Given the description of an element on the screen output the (x, y) to click on. 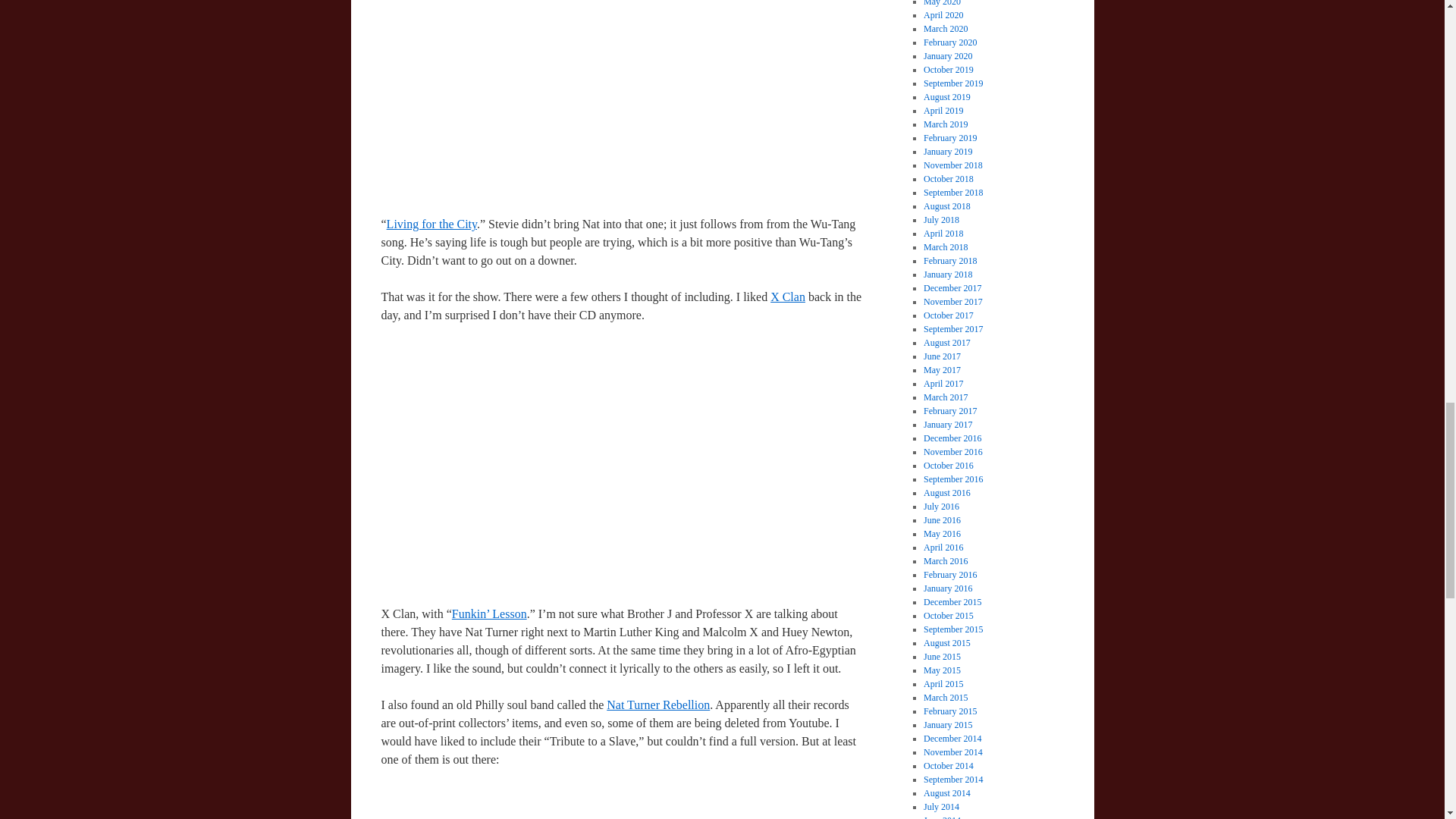
Nat Turner Rebellion (658, 704)
Living for the City (432, 223)
X Clan (787, 296)
